Given the description of an element on the screen output the (x, y) to click on. 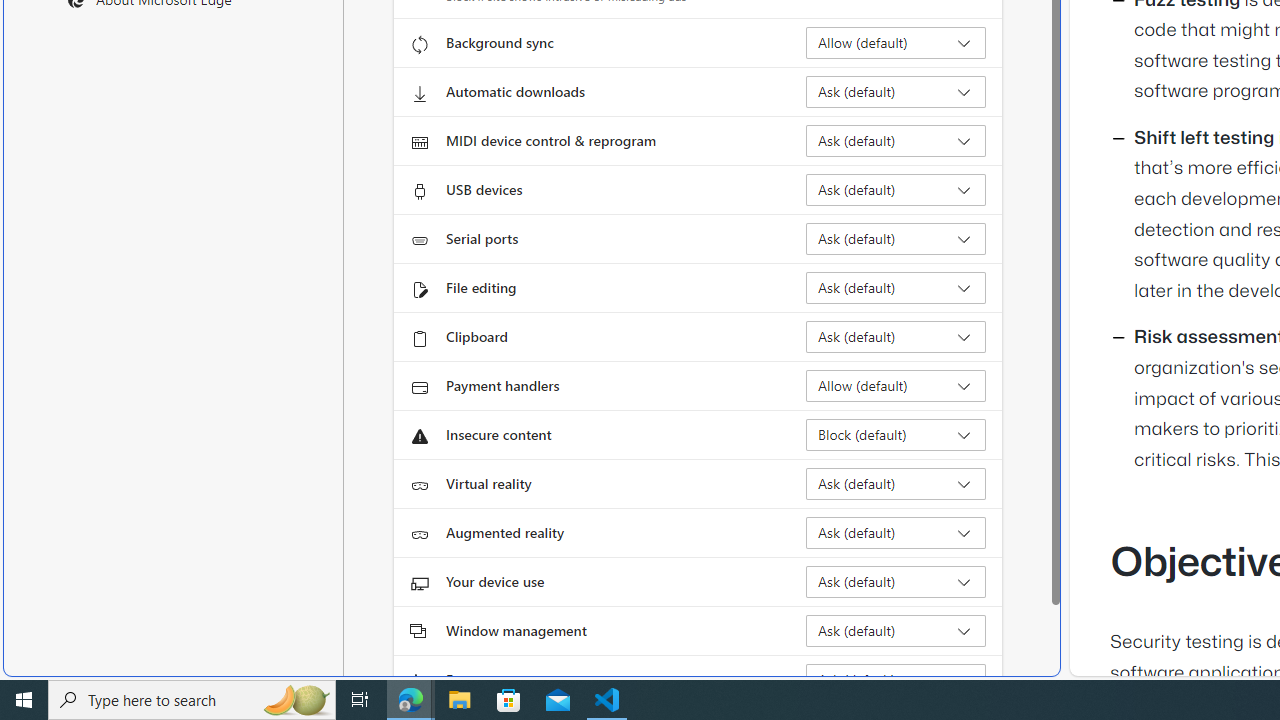
Background sync Allow (default) (895, 43)
Serial ports Ask (default) (895, 238)
USB devices Ask (default) (895, 189)
Fonts Ask (default) (895, 679)
Payment handlers Allow (default) (895, 385)
Augmented reality Ask (default) (895, 532)
Automatic downloads Ask (default) (895, 92)
Clipboard Ask (default) (895, 336)
MIDI device control & reprogram Ask (default) (895, 140)
Window management Ask (default) (895, 630)
Your device use Ask (default) (895, 581)
File editing Ask (default) (895, 287)
Virtual reality Ask (default) (895, 483)
Insecure content Block (default) (895, 434)
